Given the description of an element on the screen output the (x, y) to click on. 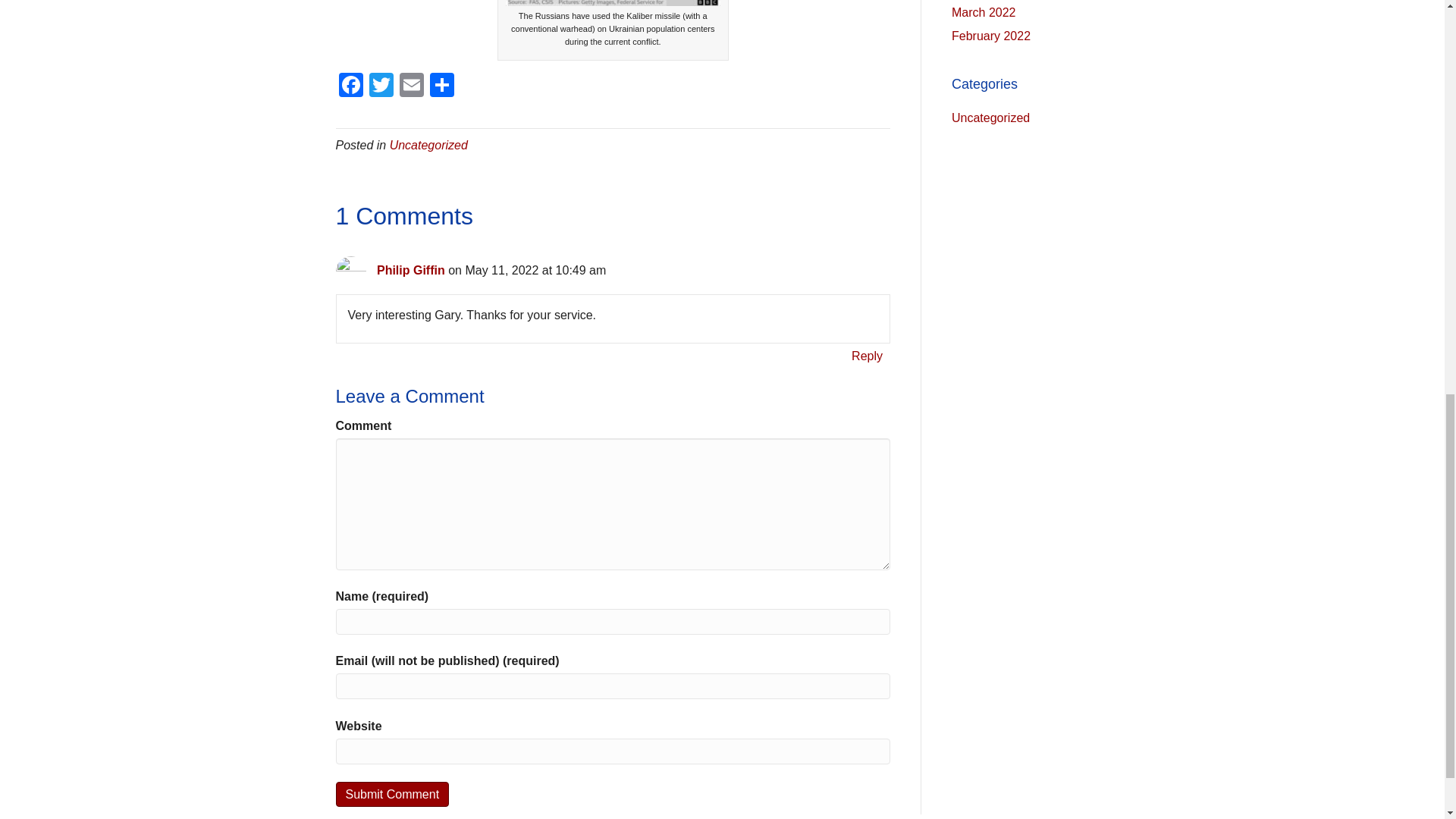
Uncategorized (428, 144)
Email (411, 86)
Facebook (349, 86)
Email (411, 86)
Philip Giffin (411, 269)
Reply (866, 355)
Twitter (380, 86)
Submit Comment (391, 794)
Facebook (349, 86)
Twitter (380, 86)
Submit Comment (391, 794)
